Given the description of an element on the screen output the (x, y) to click on. 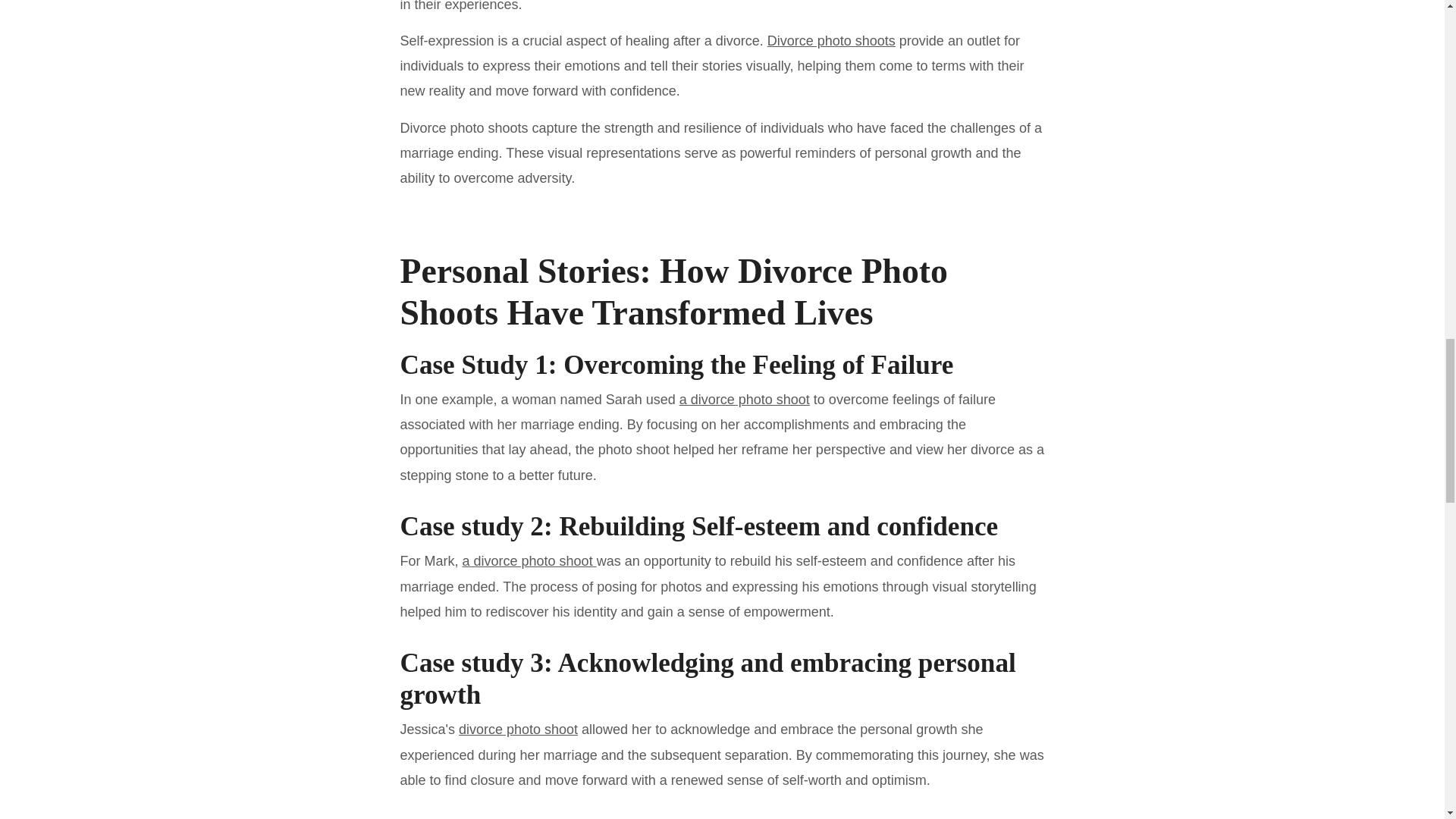
Divorce photo shoots (831, 40)
a divorce photo shoot (529, 560)
a divorce photo shoot (744, 399)
divorce photo shoot (518, 729)
